Given the description of an element on the screen output the (x, y) to click on. 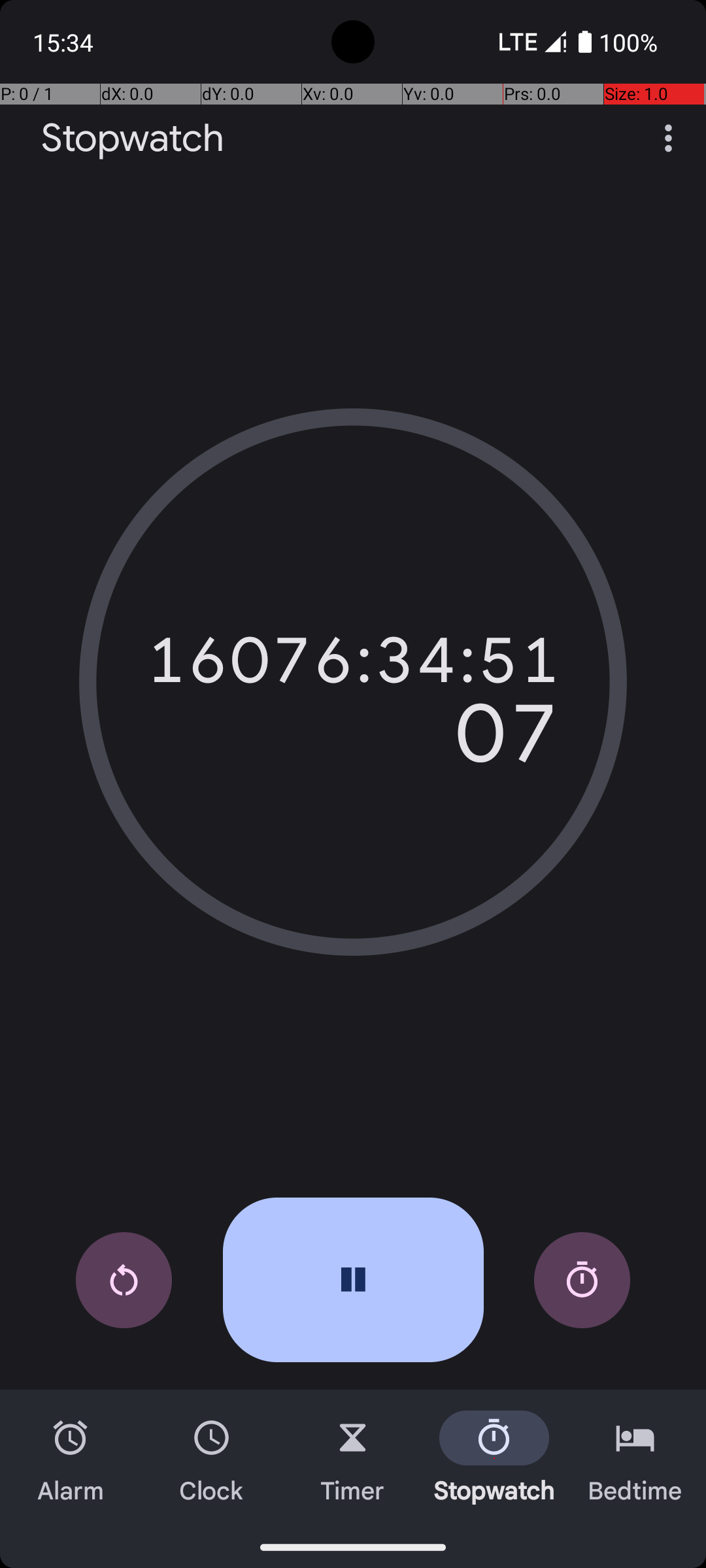
Pause Element type: android.widget.Button (352, 1279)
Lap Element type: android.widget.ImageButton (582, 1280)
16076:34:49 Element type: android.widget.TextView (352, 659)
